Given the description of an element on the screen output the (x, y) to click on. 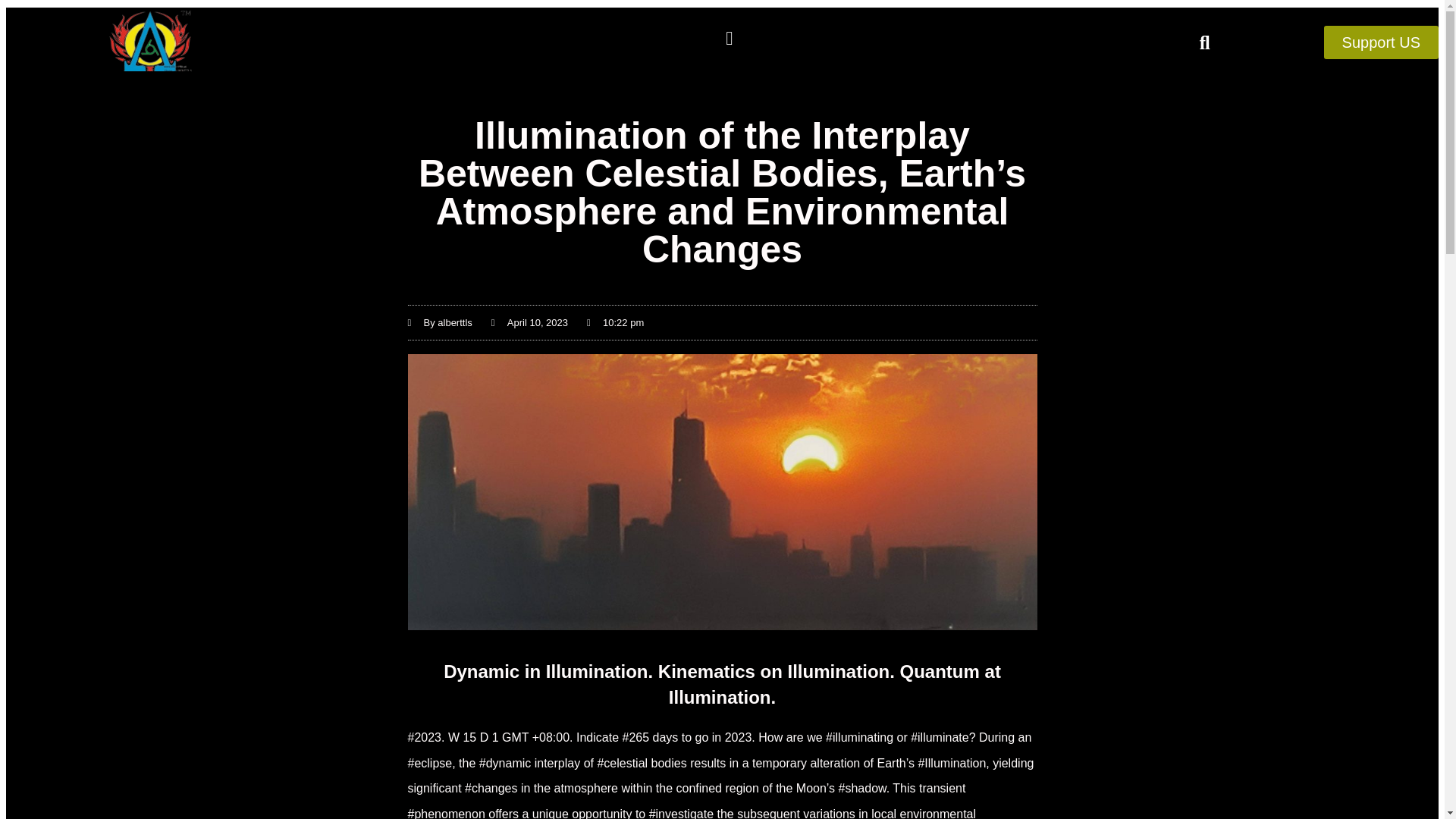
By alberttls (439, 322)
April 10, 2023 (529, 322)
